Given the description of an element on the screen output the (x, y) to click on. 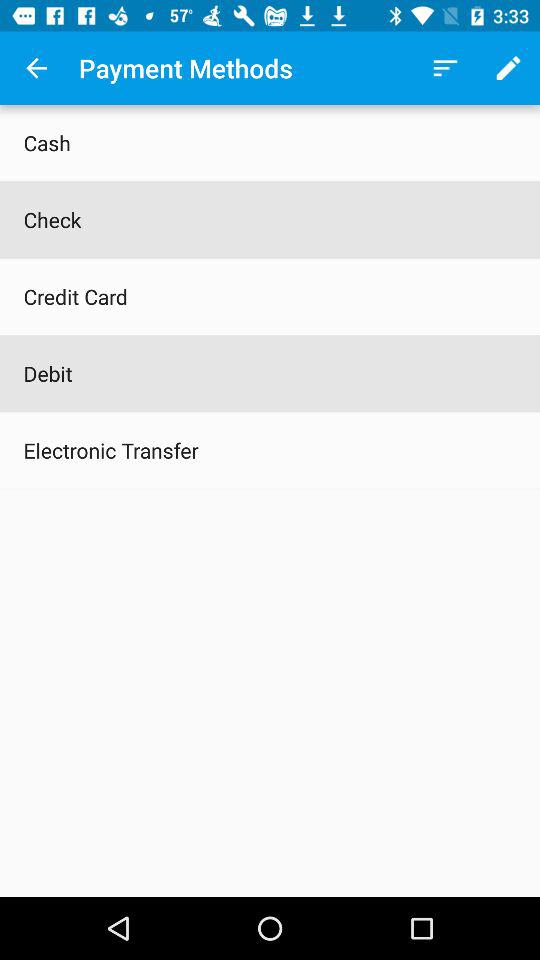
tap the item next to the payment methods (36, 68)
